Given the description of an element on the screen output the (x, y) to click on. 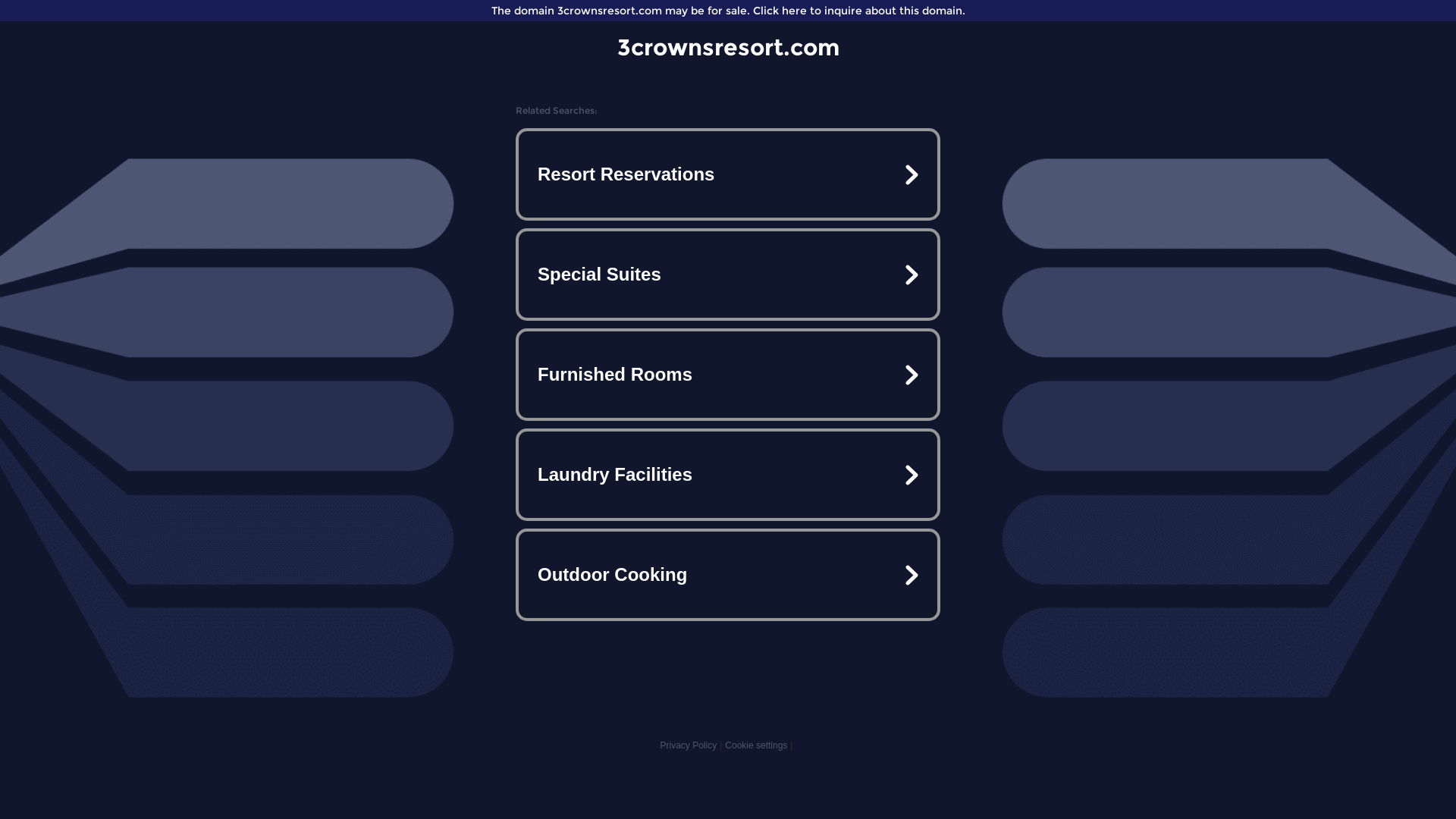
Resort Reservations Element type: text (727, 174)
Cookie settings Element type: text (755, 745)
Special Suites Element type: text (727, 274)
Outdoor Cooking Element type: text (727, 574)
Laundry Facilities Element type: text (727, 474)
Furnished Rooms Element type: text (727, 374)
Privacy Policy Element type: text (687, 745)
3crownsresort.com Element type: text (728, 47)
